Given the description of an element on the screen output the (x, y) to click on. 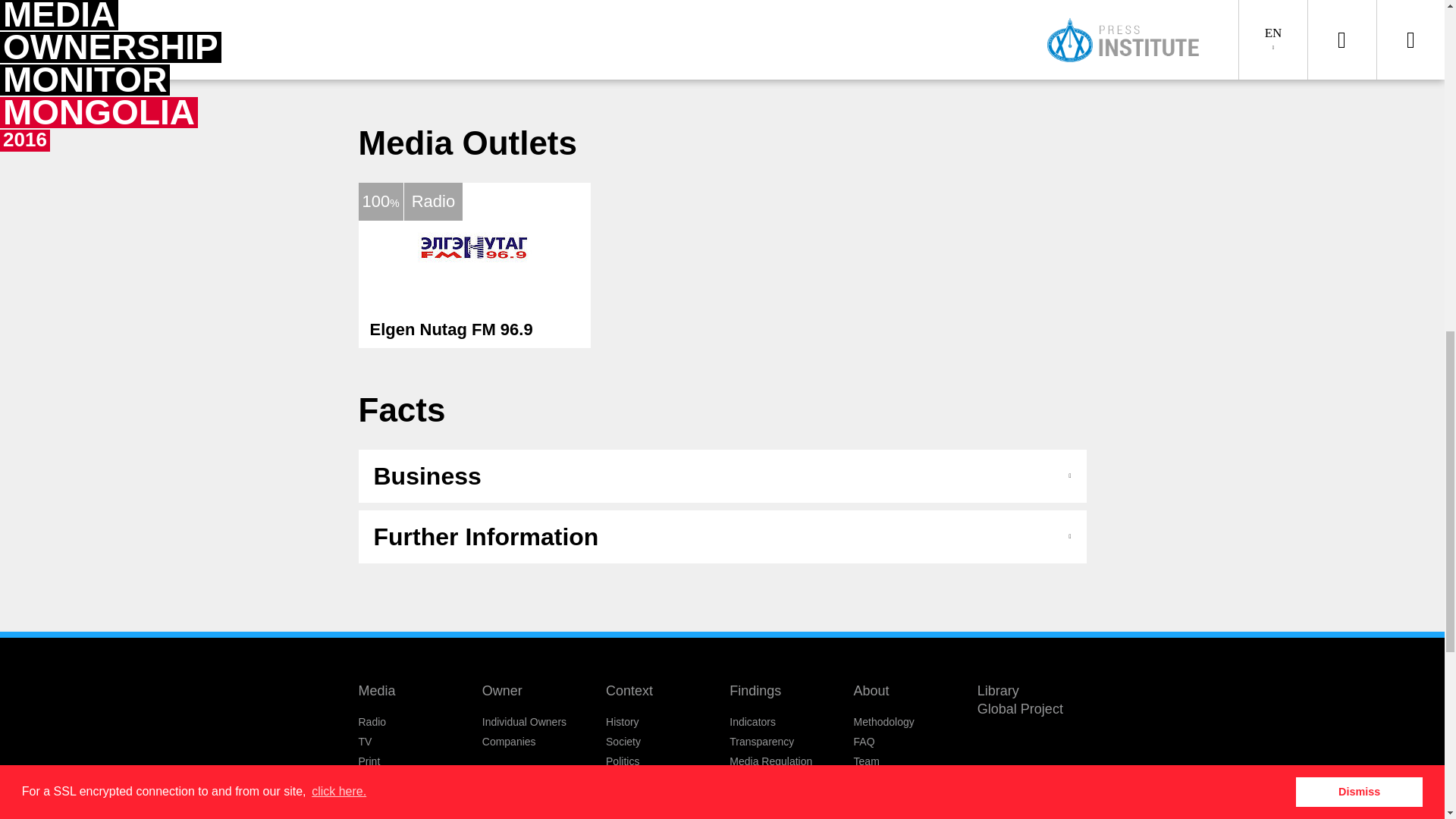
Owner (501, 690)
Washed News (763, 816)
History (622, 721)
Politics (622, 761)
Online (373, 780)
Transparency (761, 741)
Media Consumption (652, 800)
Media (376, 690)
Context (628, 690)
Findings (754, 690)
Companies (508, 741)
Radio (371, 721)
Indicators (752, 721)
Economy (627, 780)
Print (369, 761)
